Given the description of an element on the screen output the (x, y) to click on. 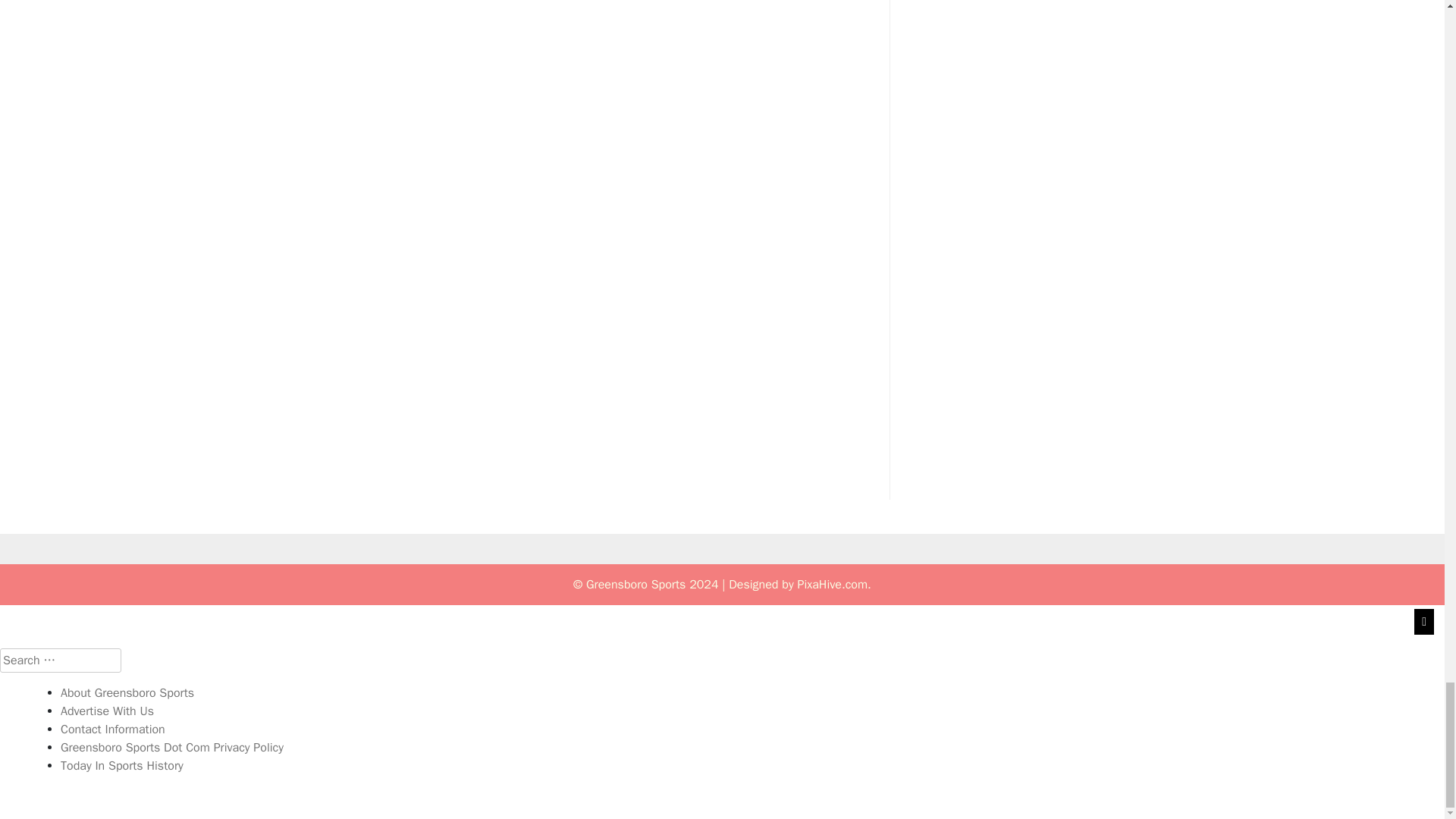
Today In Sports History (122, 765)
PixaHive.com (831, 584)
Contact Information (113, 729)
Advertise With Us (107, 711)
Greensboro Sports Dot Com Privacy Policy (172, 747)
About Greensboro Sports (127, 693)
